Given the description of an element on the screen output the (x, y) to click on. 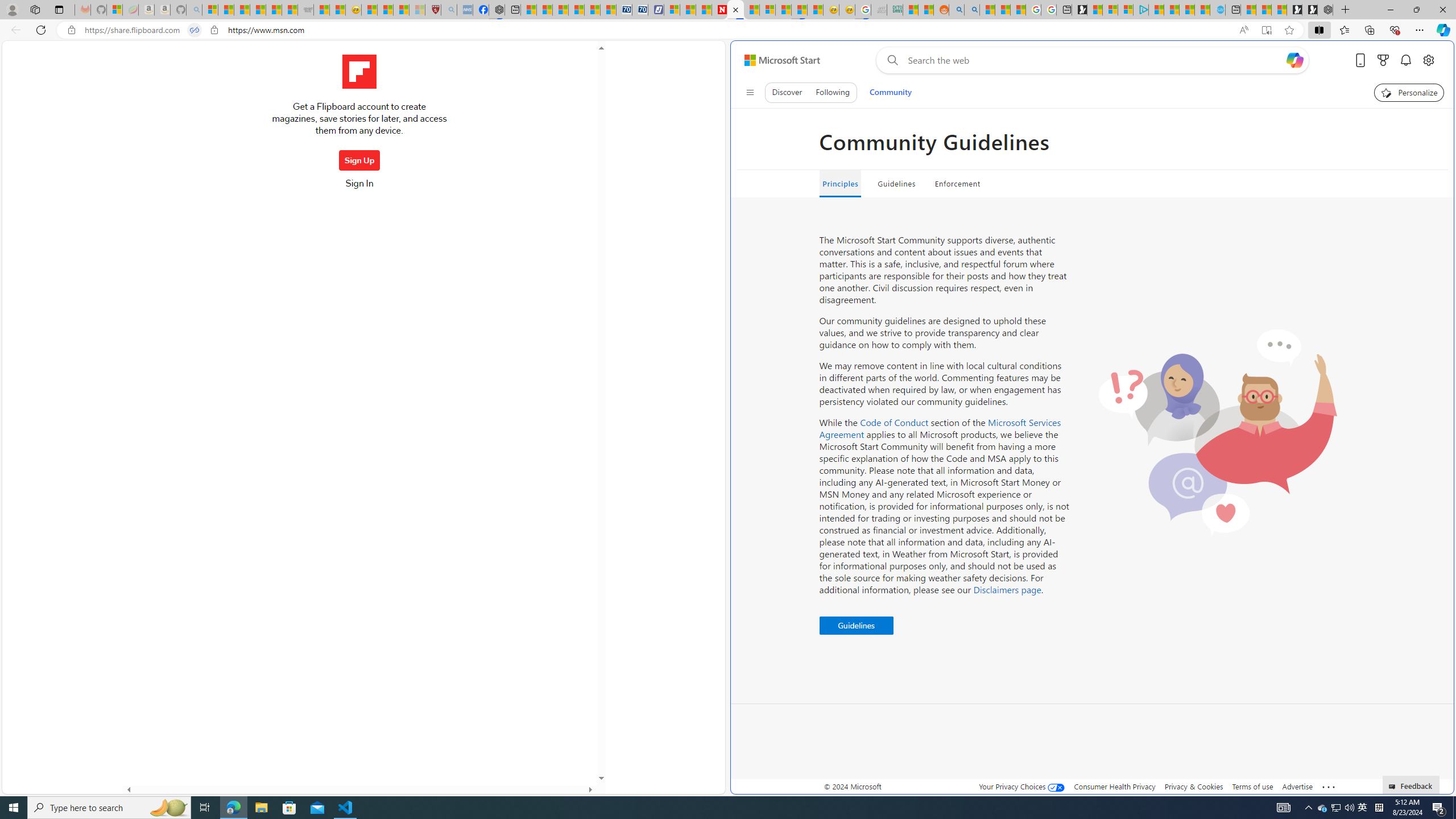
Skip to content (777, 59)
Terms of use (1252, 786)
MSN (799, 9)
